Given the description of an element on the screen output the (x, y) to click on. 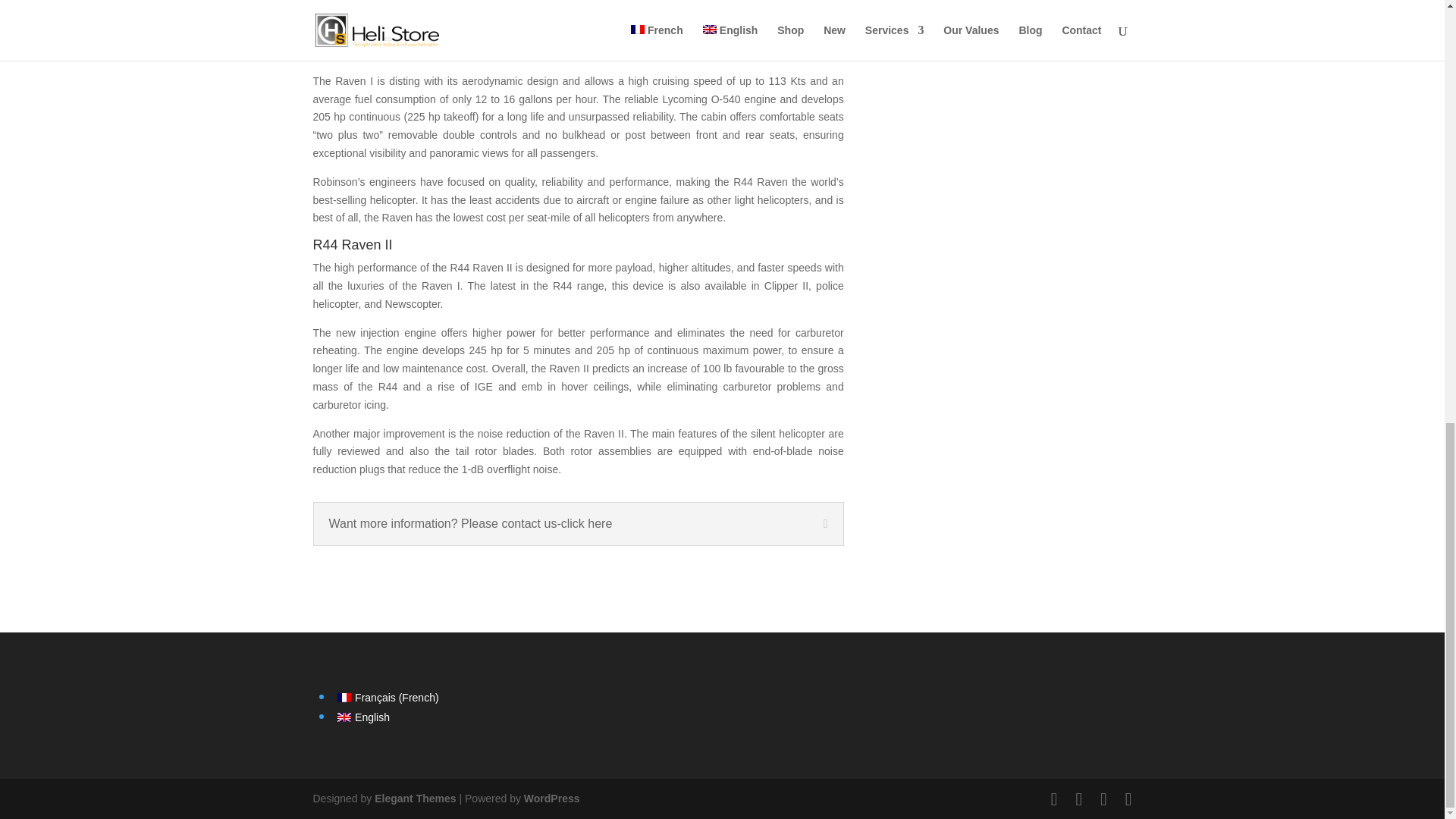
Elegant Themes (414, 798)
English (363, 717)
WordPress (551, 798)
Premium WordPress Themes (414, 798)
